Given the description of an element on the screen output the (x, y) to click on. 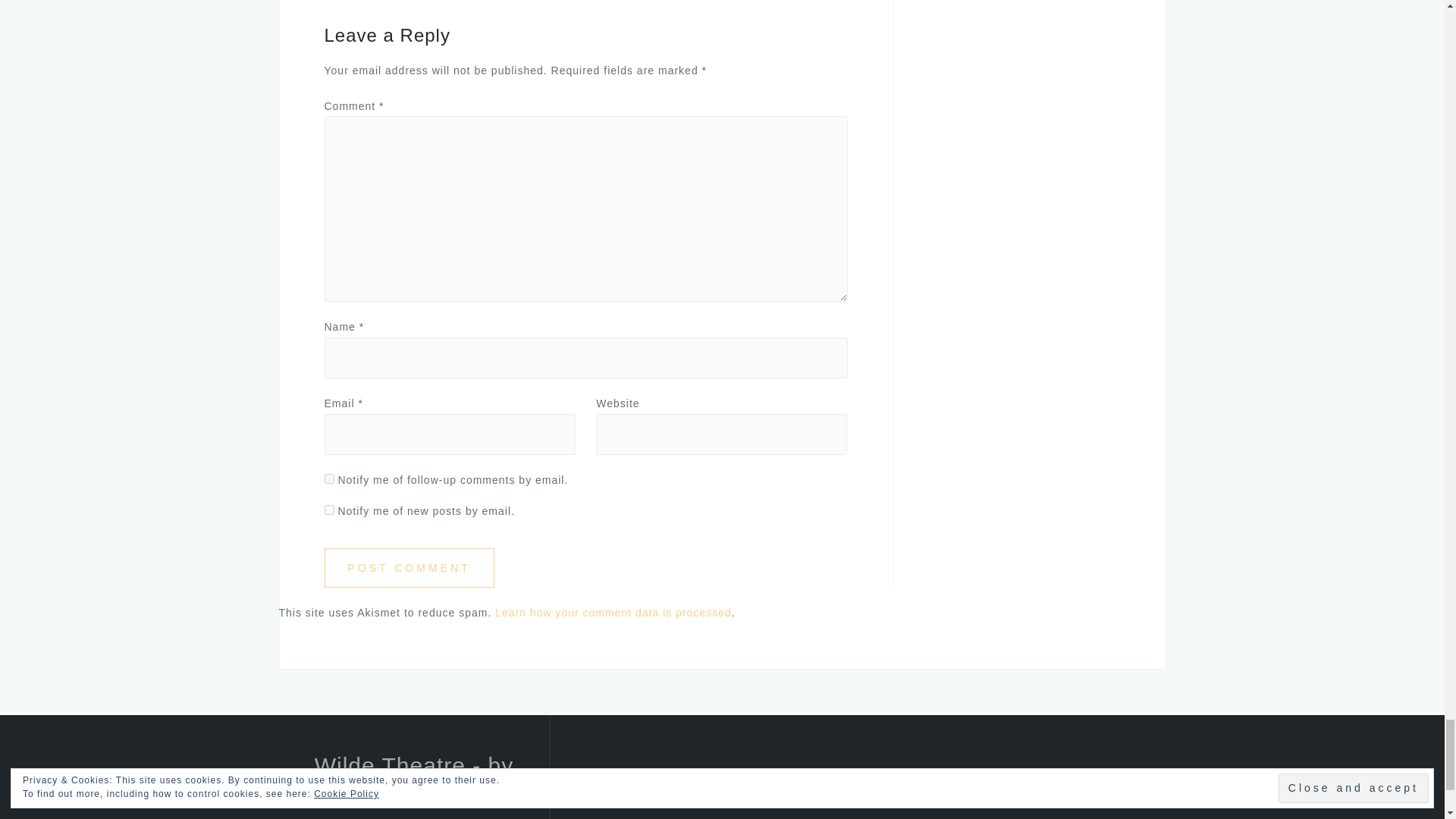
Learn how your comment data is processed (613, 612)
Post Comment (409, 567)
Post Comment (409, 567)
subscribe (329, 510)
subscribe (329, 479)
